Given the description of an element on the screen output the (x, y) to click on. 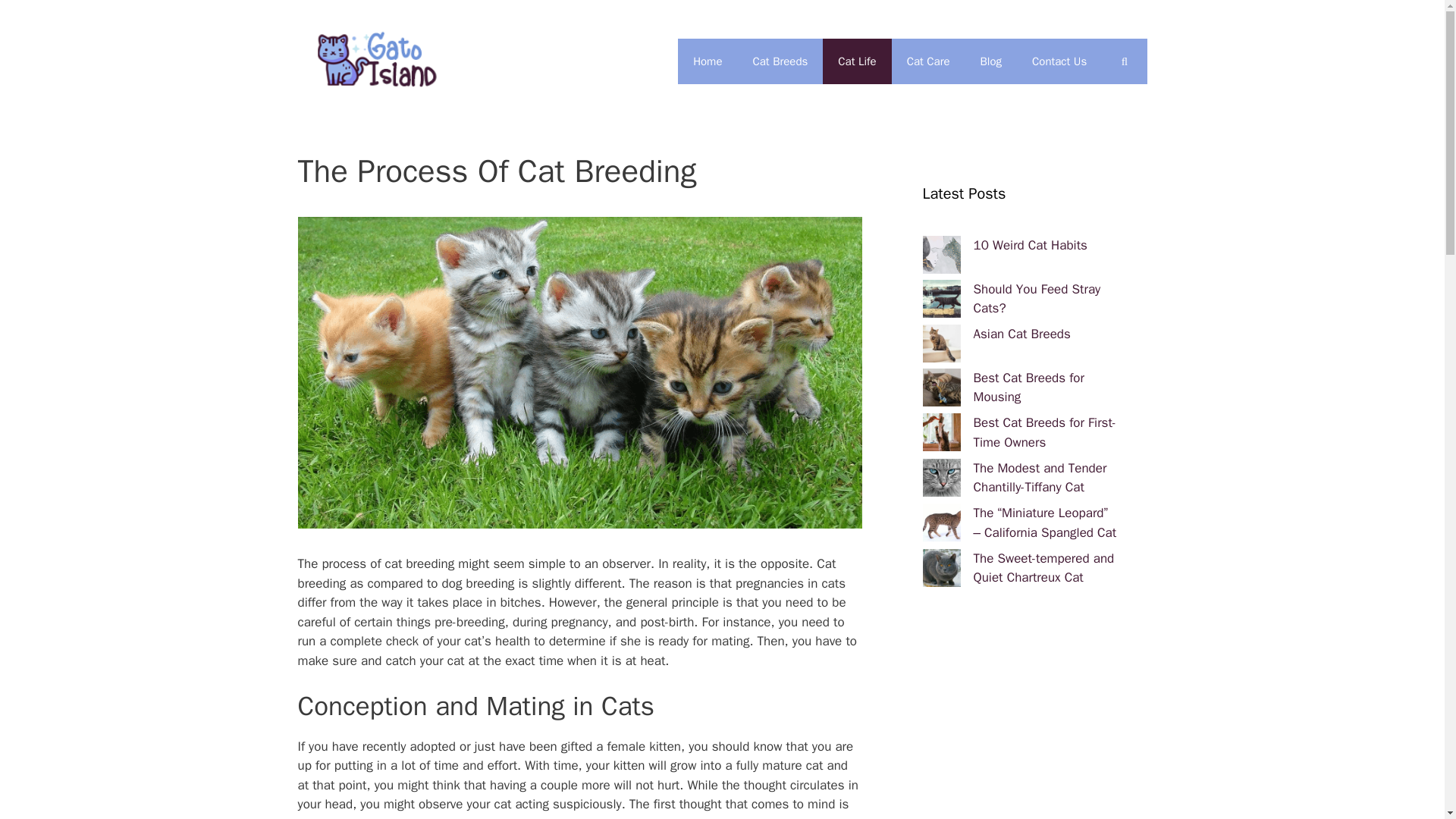
Best Cat Breeds for First-Time Owners (1045, 432)
Should You Feed Stray Cats? (1037, 298)
The Sweet-tempered and Quiet Chartreux Cat (1044, 568)
Contact Us (1059, 61)
Cat Care (928, 61)
10 Weird Cat Habits (1030, 245)
The Modest and Tender Chantilly-Tiffany Cat (1040, 478)
Cat Breeds (779, 61)
Best Cat Breeds for Mousing (1029, 387)
Home (707, 61)
Cat Life (856, 61)
Asian Cat Breeds (1022, 333)
Blog (990, 61)
